Given the description of an element on the screen output the (x, y) to click on. 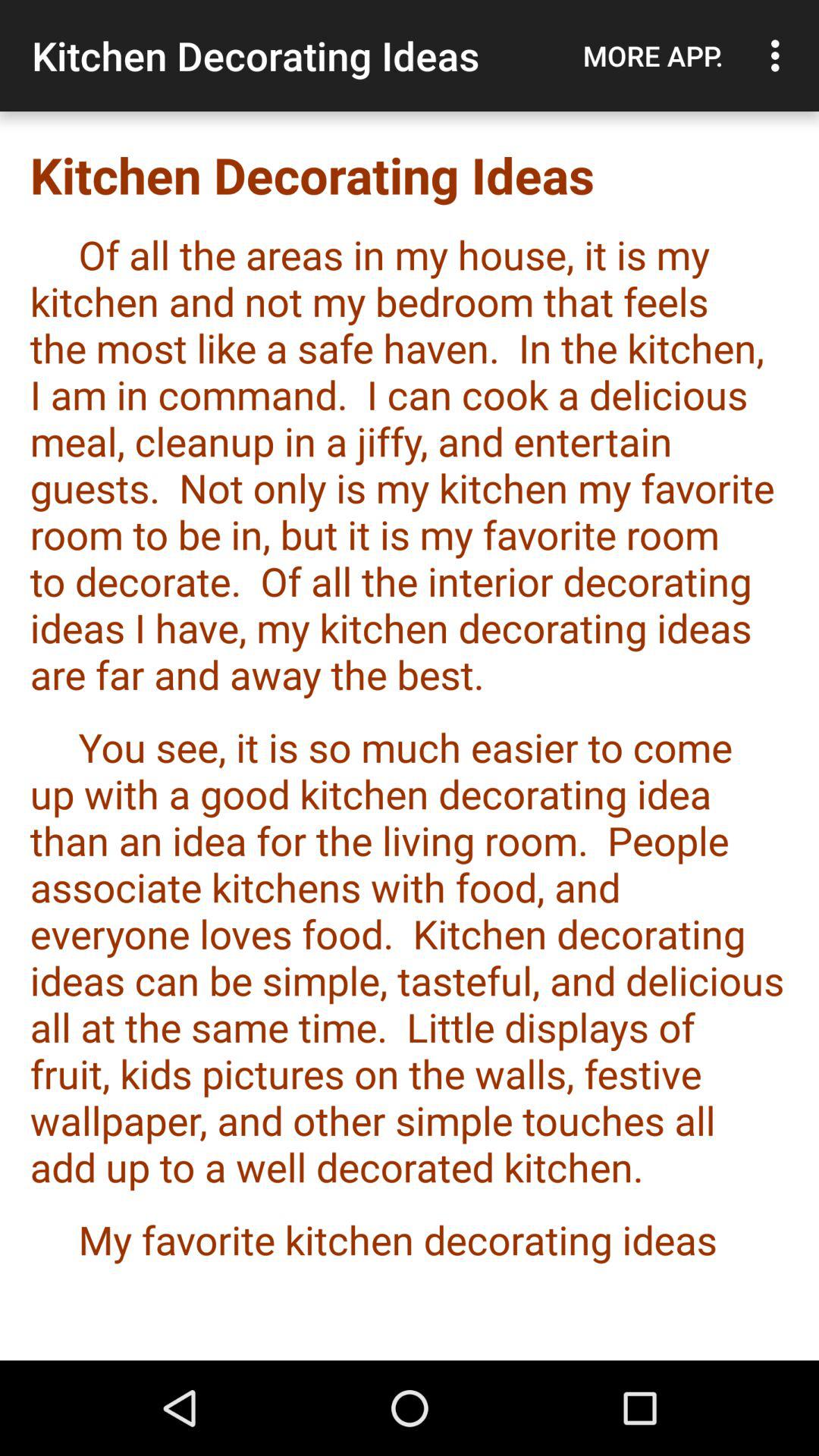
turn off more app. item (653, 55)
